Given the description of an element on the screen output the (x, y) to click on. 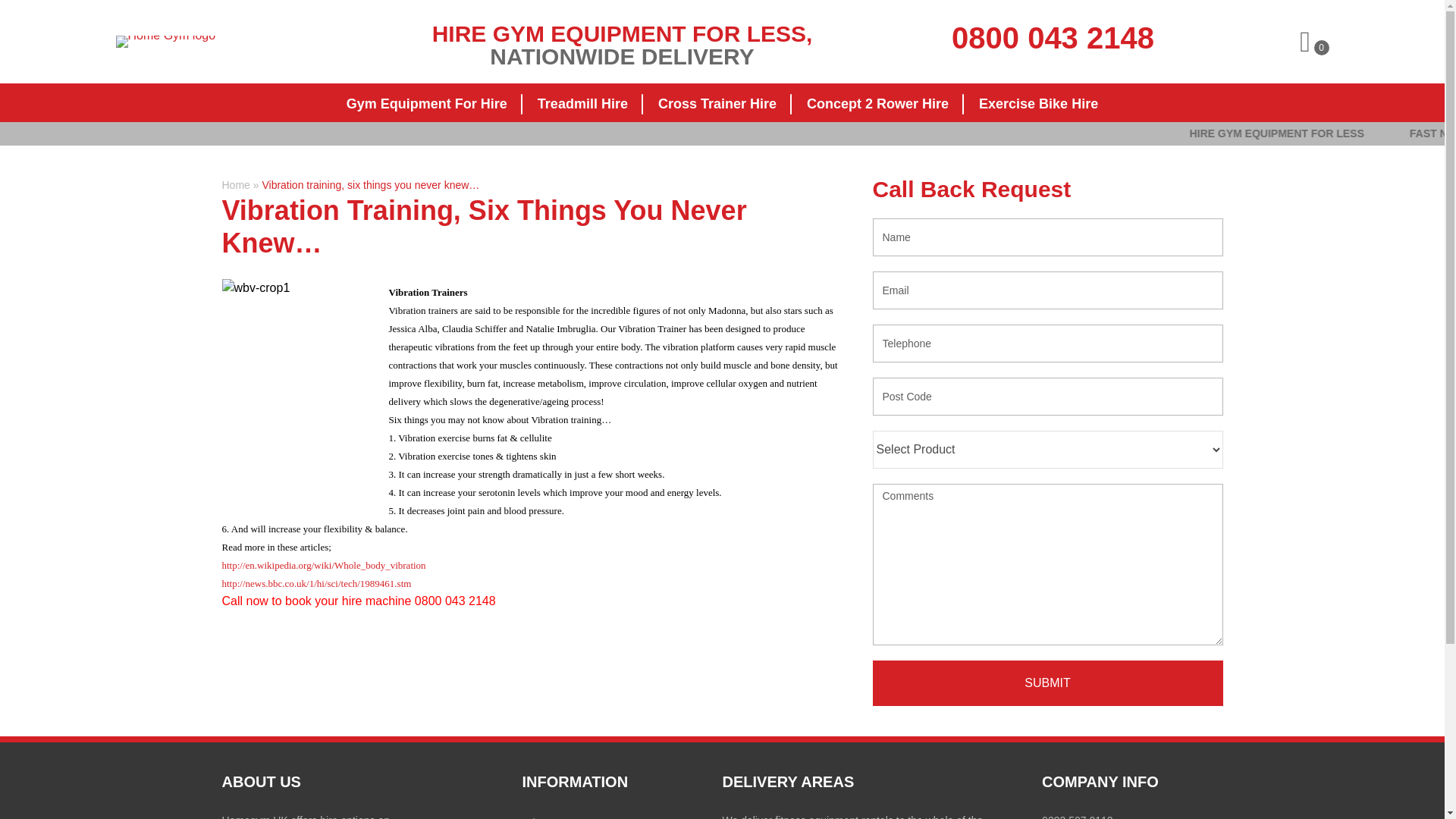
Treadmill Hire (582, 104)
Submit (1047, 682)
0 (1313, 41)
Home Gym logo (165, 41)
Gym Equipment For Hire (426, 104)
0800 043 2148 (1053, 37)
